Given the description of an element on the screen output the (x, y) to click on. 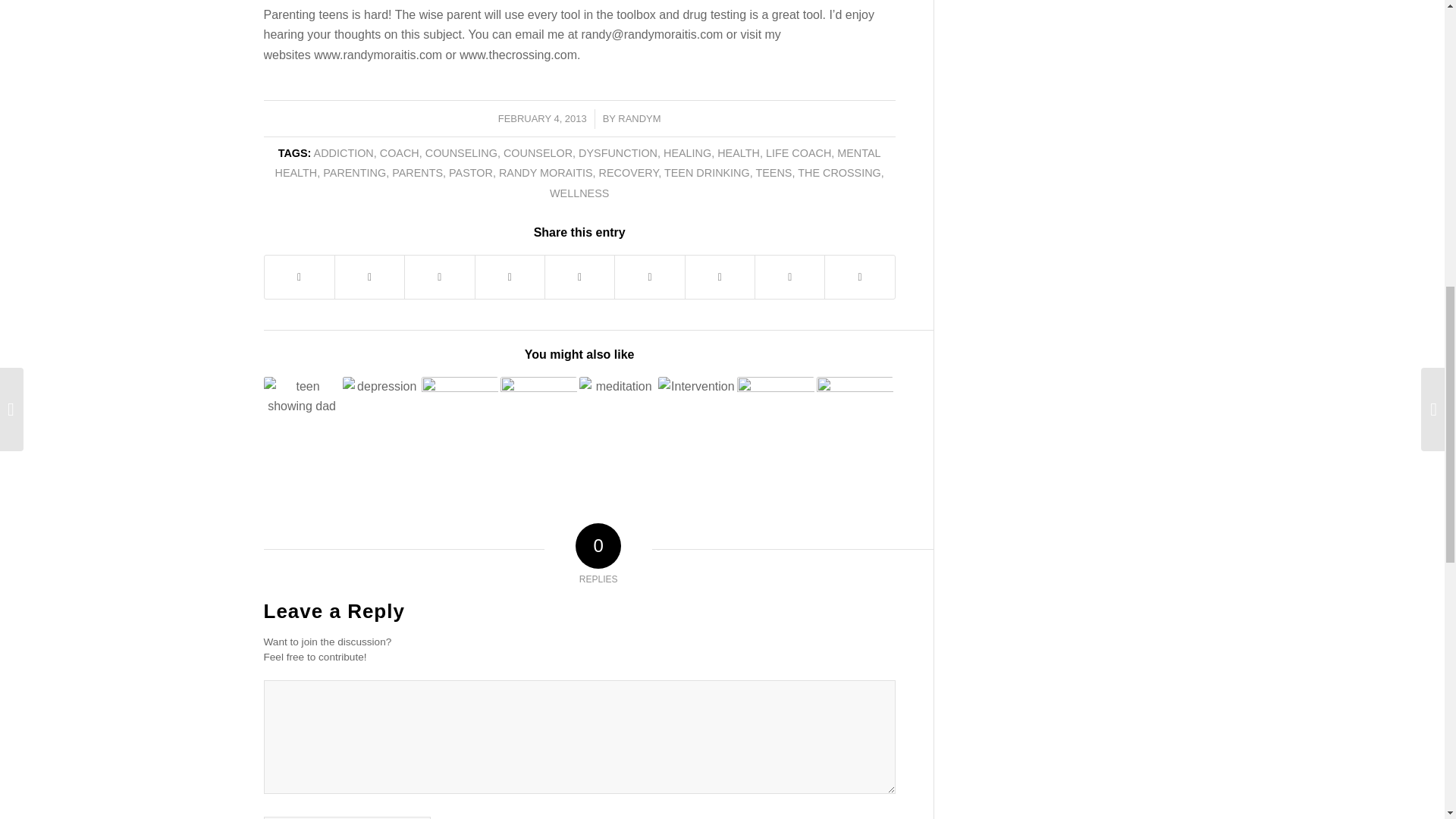
LIFE COACH (798, 152)
MENTAL HEALTH (577, 163)
DYSFUNCTION (618, 152)
ADDICTION (344, 152)
COACH (399, 152)
Posts by randym (639, 118)
PARENTING (354, 173)
COUNSELING (461, 152)
COUNSELOR (537, 152)
HEALTH (738, 152)
